Given the description of an element on the screen output the (x, y) to click on. 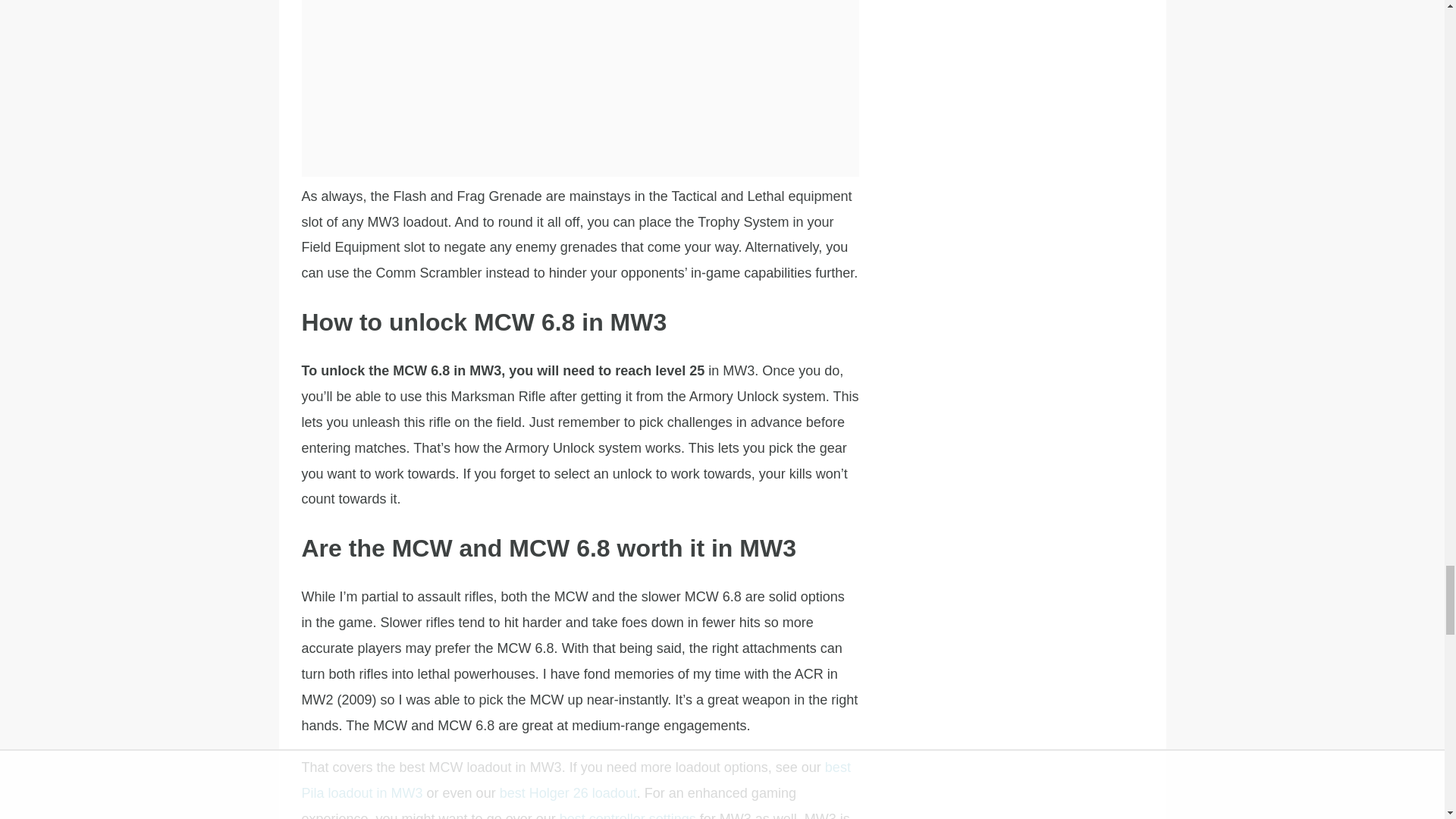
best Pila loadout in MW3 (575, 780)
best Holger 26 loadout (568, 792)
best controller settings (627, 815)
